Given the description of an element on the screen output the (x, y) to click on. 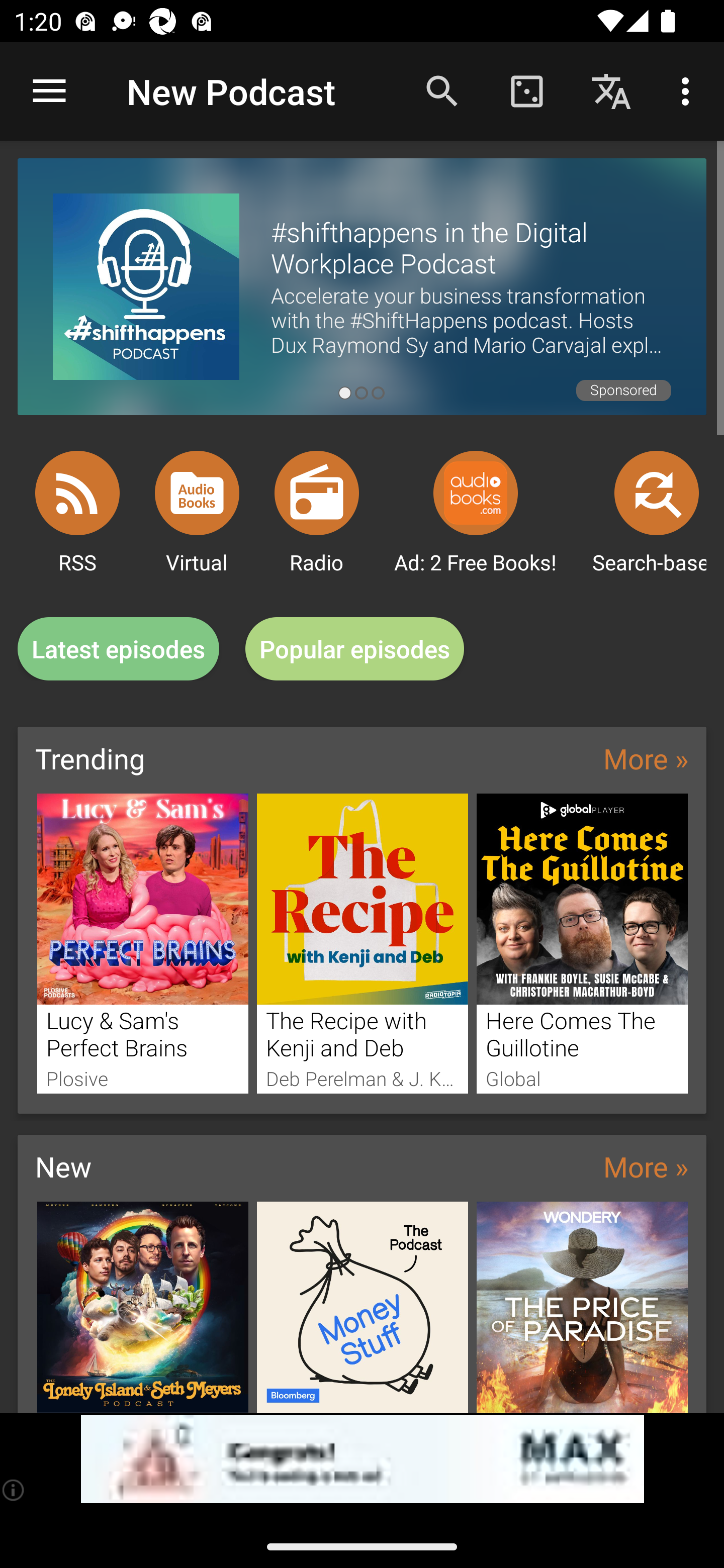
Open navigation sidebar (49, 91)
Search (442, 90)
Random pick (526, 90)
Podcast languages (611, 90)
More options (688, 90)
RSS (77, 492)
Virtual (196, 492)
Radio (316, 492)
Search-based (656, 492)
Latest episodes (118, 648)
Popular episodes (354, 648)
More » (645, 757)
Lucy & Sam's Perfect Brains Plosive (142, 942)
Here Comes The Guillotine Global (581, 942)
More » (645, 1166)
The Lonely Island and Seth Meyers Podcast (142, 1306)
Money Stuff: The Podcast (362, 1306)
The Price of Paradise (581, 1306)
app-monetization (362, 1459)
(i) (14, 1489)
